Given the description of an element on the screen output the (x, y) to click on. 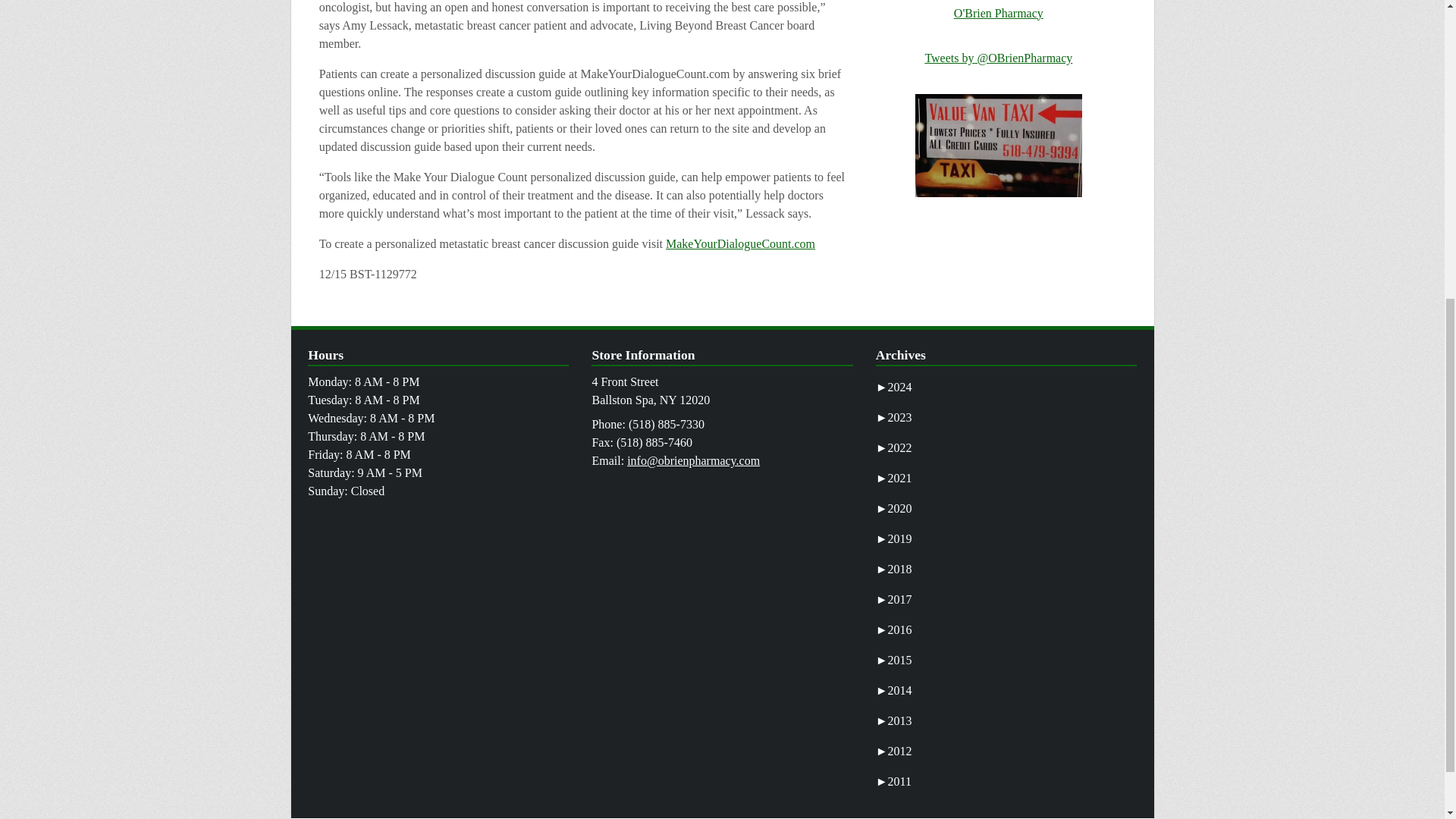
2014 (894, 689)
2017 (894, 599)
2015 (894, 659)
O'Brien Pharmacy (998, 12)
2016 (894, 629)
2012 (894, 750)
2013 (894, 720)
2022 (894, 447)
2011 (893, 780)
MakeYourDialogueCount.com (740, 243)
2018 (894, 568)
2020 (894, 508)
2019 (894, 538)
2021 (894, 477)
2023 (894, 417)
